Given the description of an element on the screen output the (x, y) to click on. 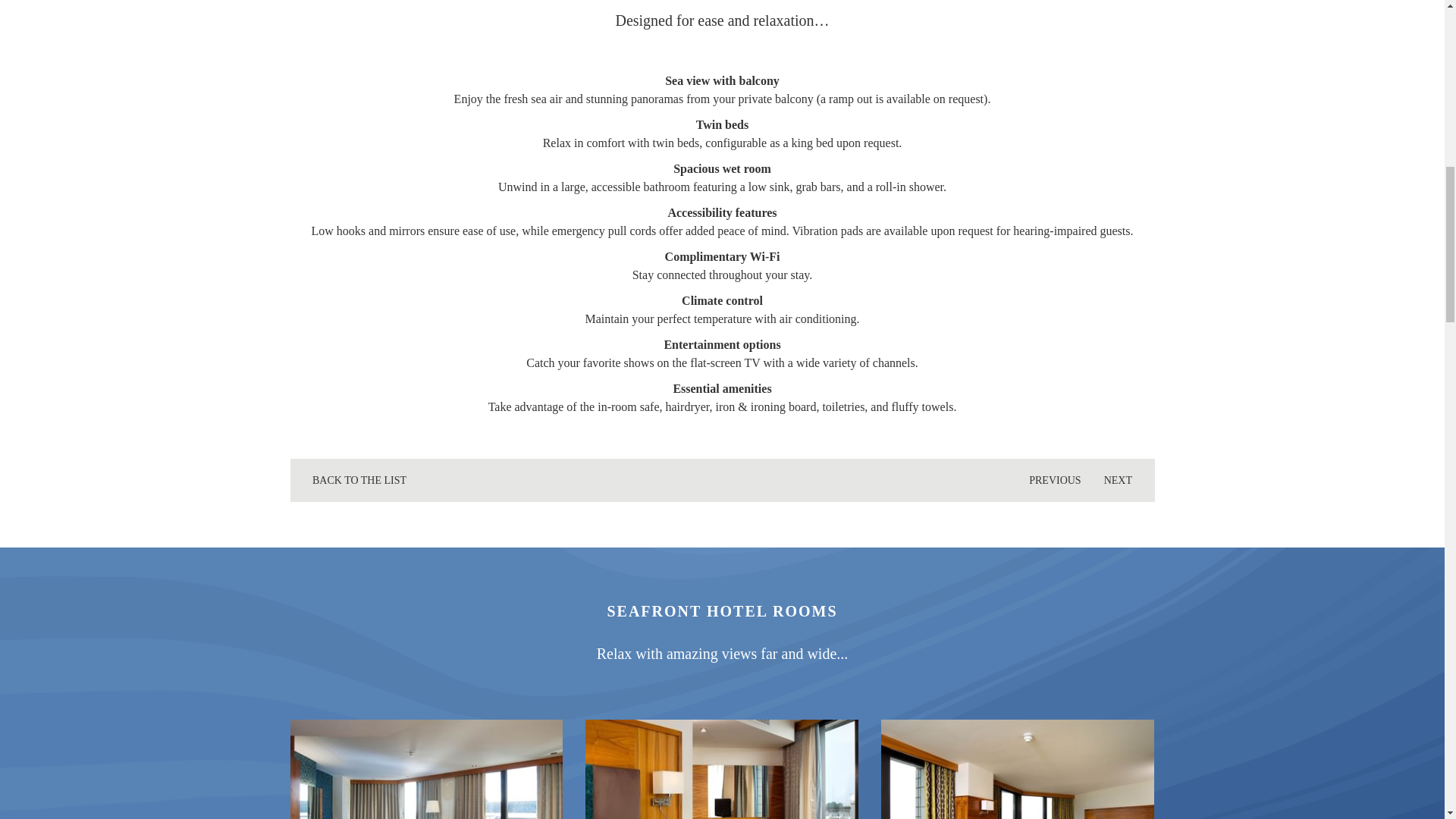
PREVIOUS (1048, 480)
BACK TO THE LIST (352, 480)
NEXT (1124, 480)
